Given the description of an element on the screen output the (x, y) to click on. 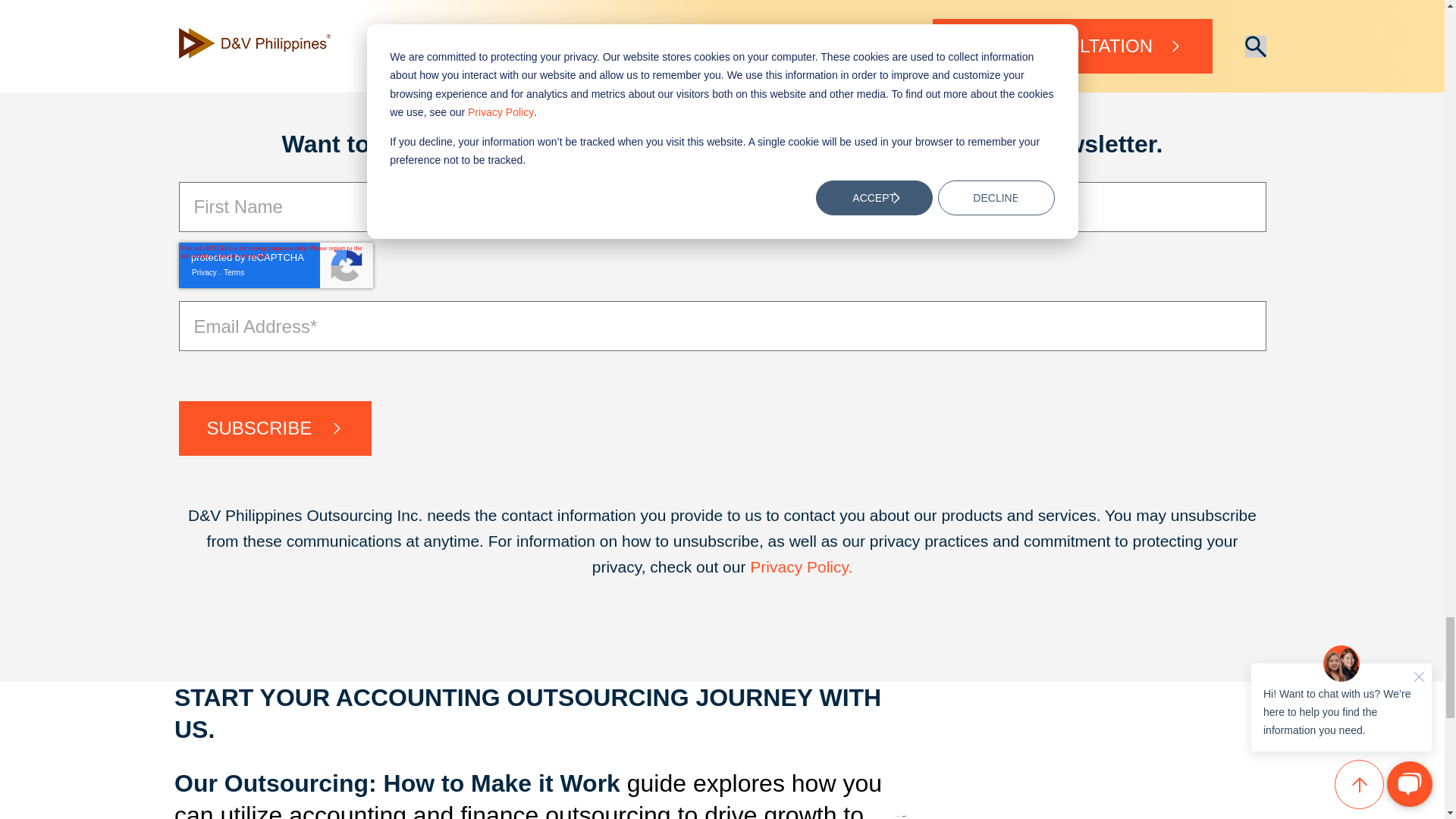
SUBSCRIBE (275, 428)
SUBSCRIBE (275, 428)
Privacy (777, 566)
Policy. (828, 566)
reCAPTCHA (275, 265)
